Given the description of an element on the screen output the (x, y) to click on. 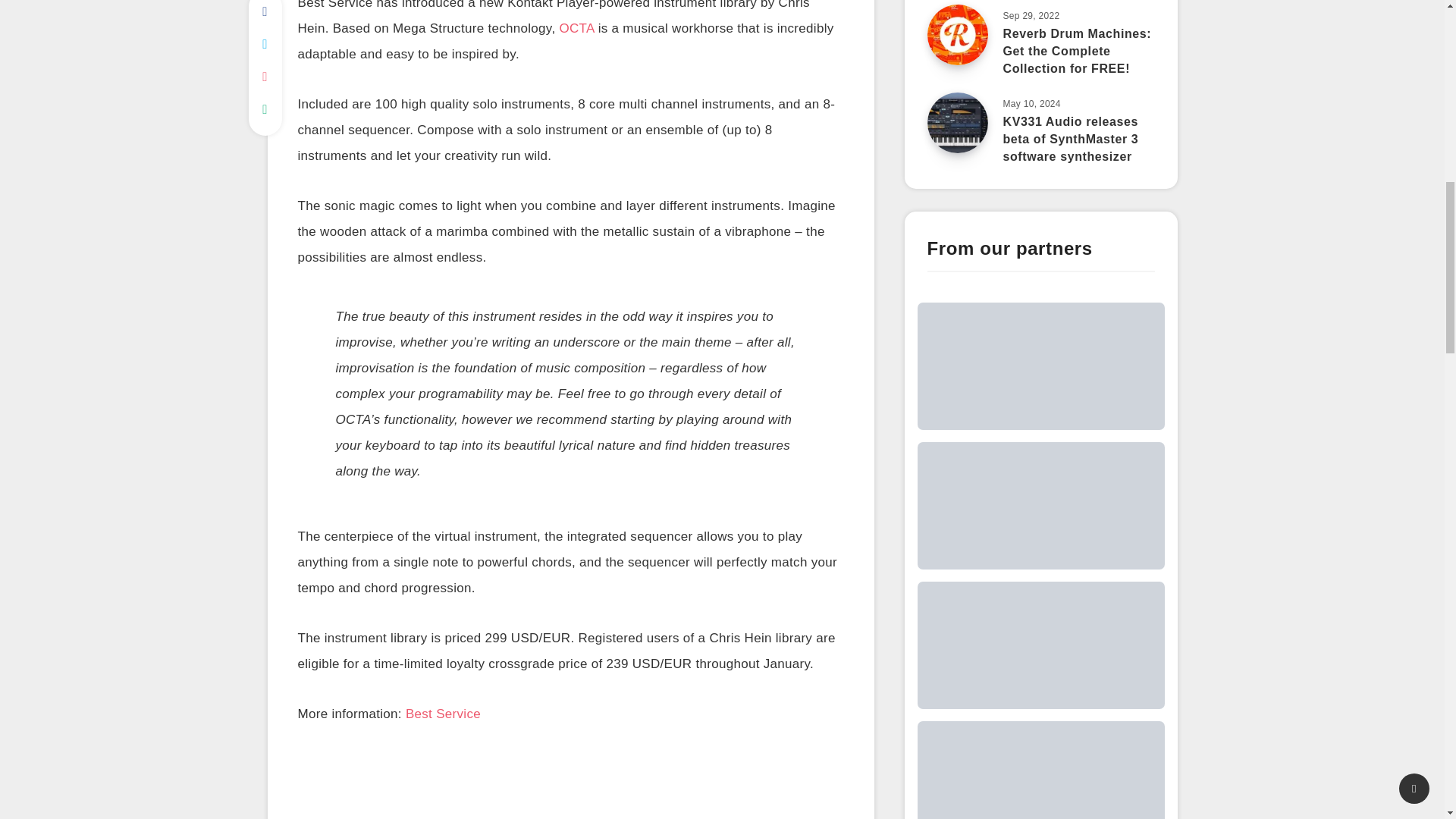
Best Service (443, 715)
OCTA (576, 30)
